Given the description of an element on the screen output the (x, y) to click on. 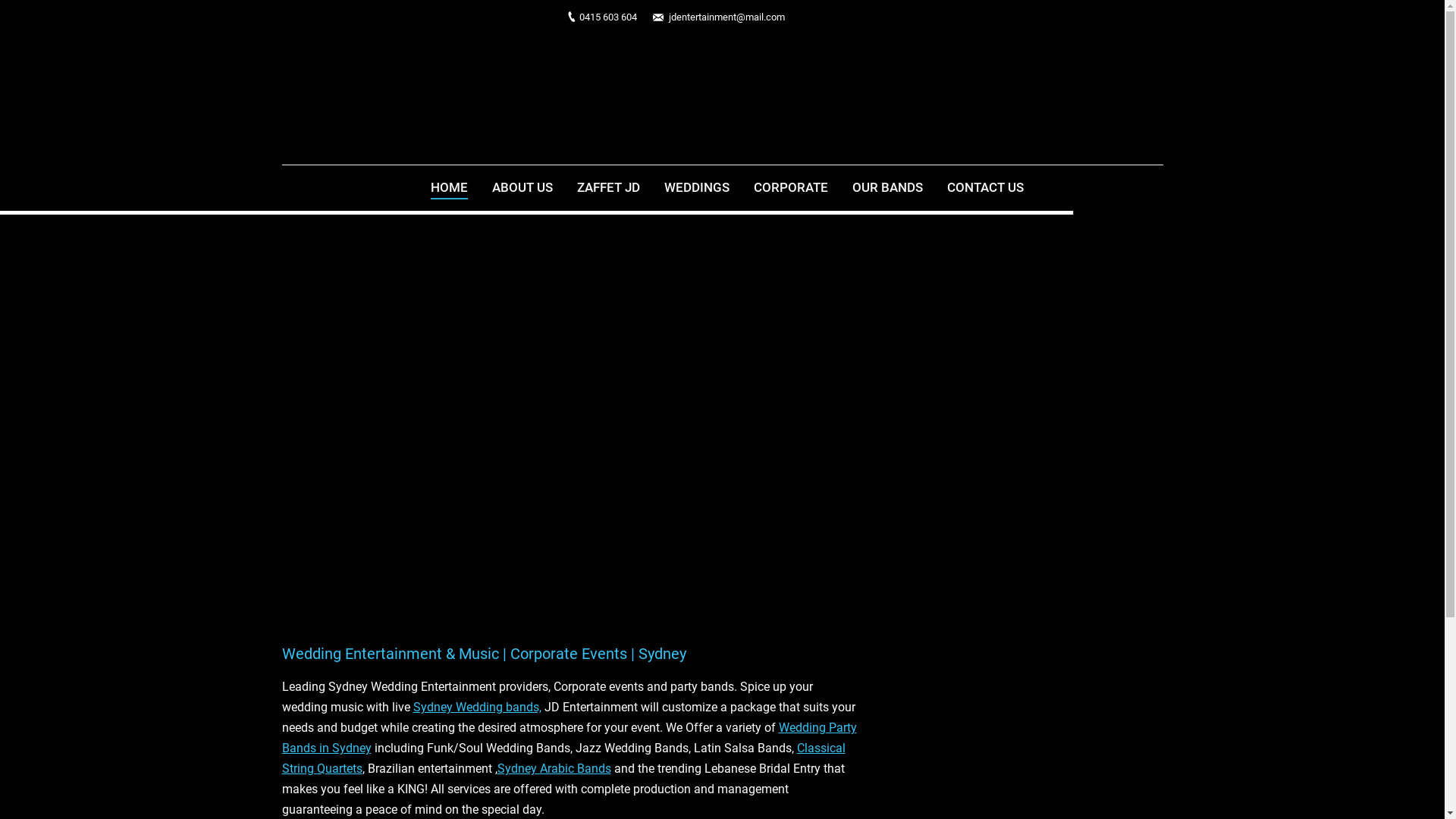
CONTACT US Element type: text (985, 187)
Wedding Party Bands in Sydney Element type: text (569, 737)
Sydney Arabic Bands Element type: text (554, 768)
Classical String Quartets Element type: text (563, 757)
CORPORATE Element type: text (790, 187)
ABOUT US Element type: text (522, 187)
WEDDINGS Element type: text (696, 187)
HOME Element type: text (448, 187)
ZAFFET JD Element type: text (608, 187)
Sydney Wedding bands, Element type: text (476, 706)
OUR BANDS Element type: text (887, 187)
